Given the description of an element on the screen output the (x, y) to click on. 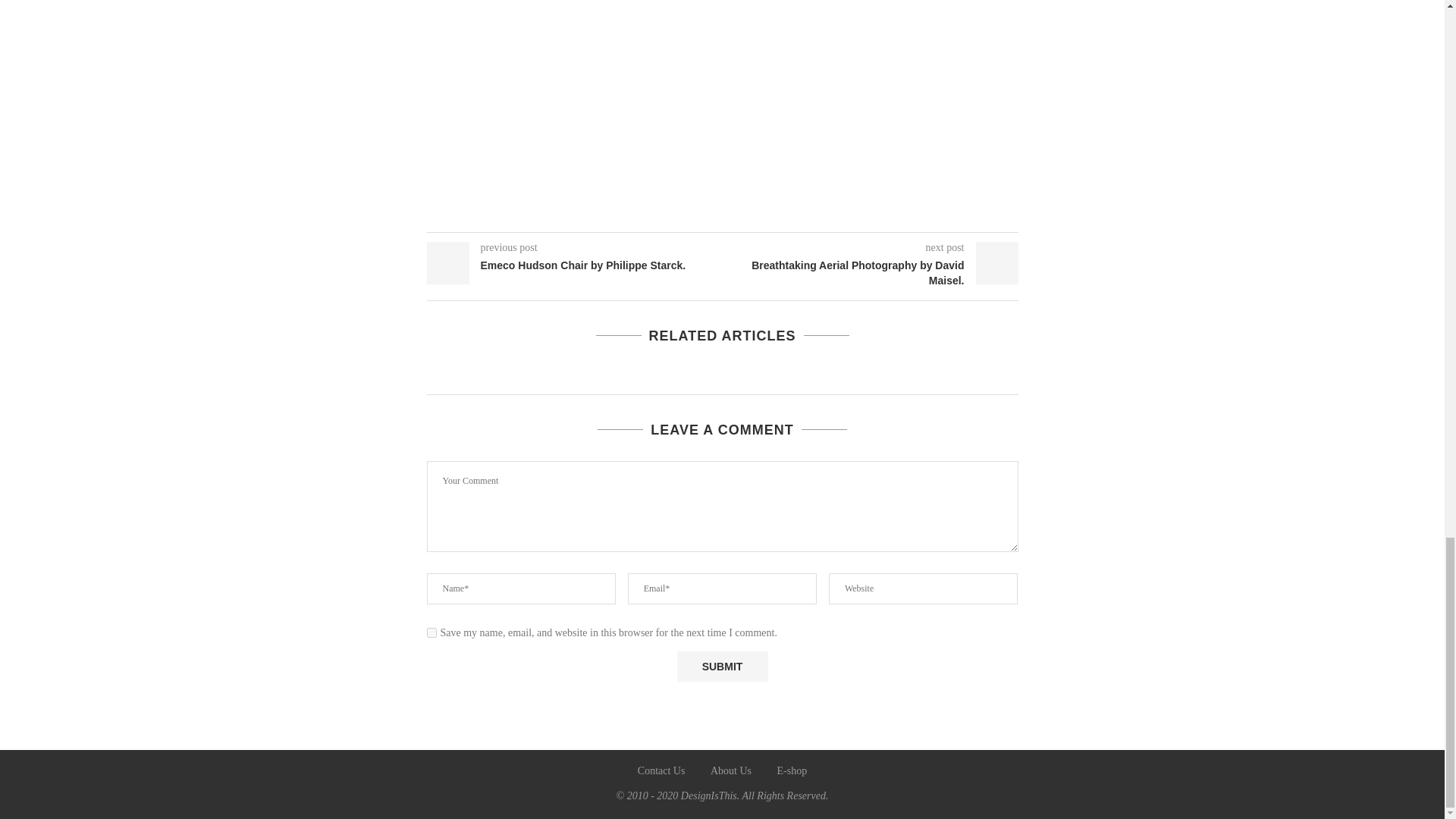
yes (430, 633)
Submit (722, 666)
